Given the description of an element on the screen output the (x, y) to click on. 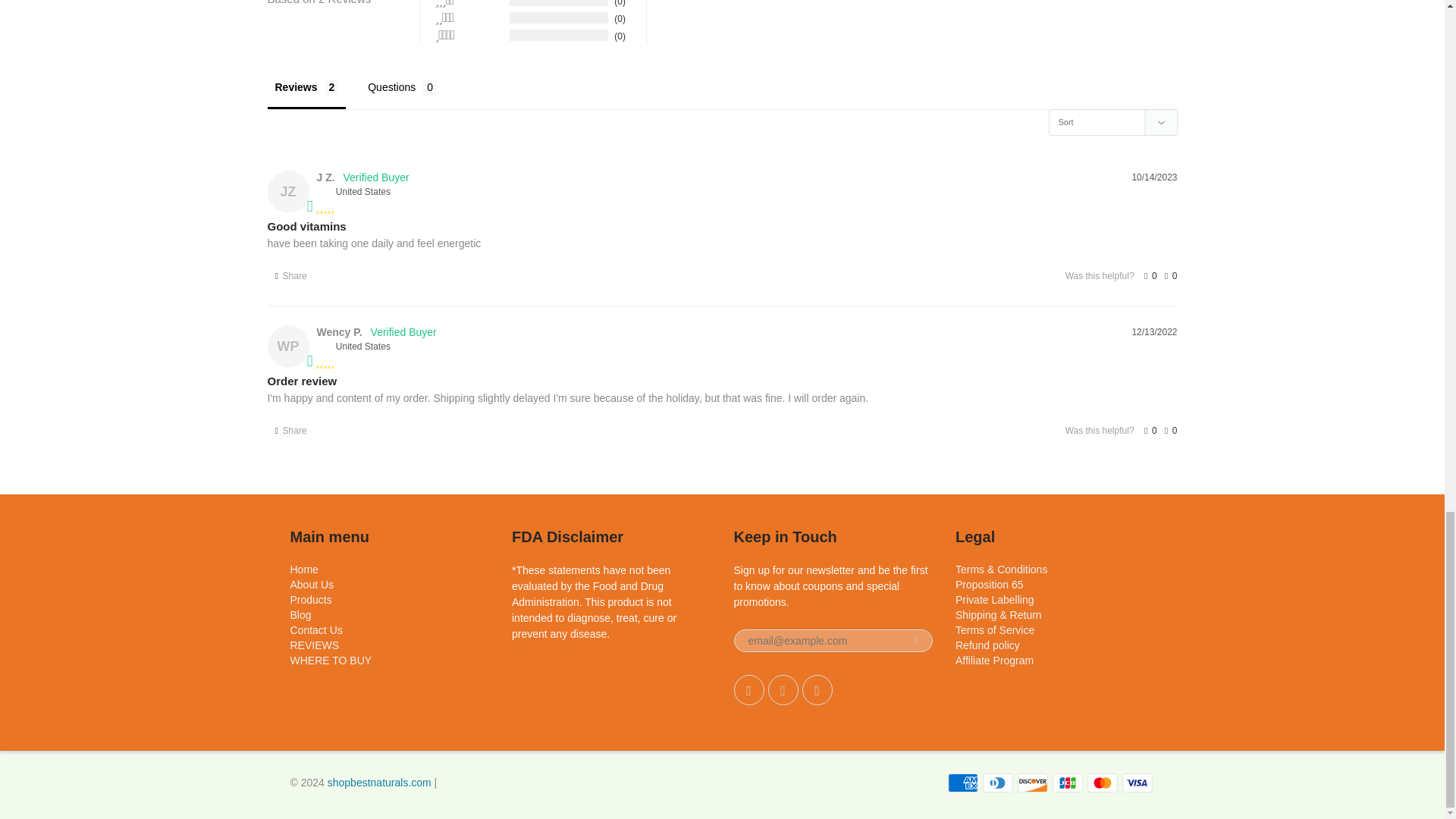
Discover (1032, 782)
JCB (1067, 782)
YouTube (817, 689)
Mastercard (1102, 782)
Twitter (748, 689)
Facebook (782, 689)
Diners Club (997, 782)
American Express (962, 782)
Visa (1137, 782)
